Given the description of an element on the screen output the (x, y) to click on. 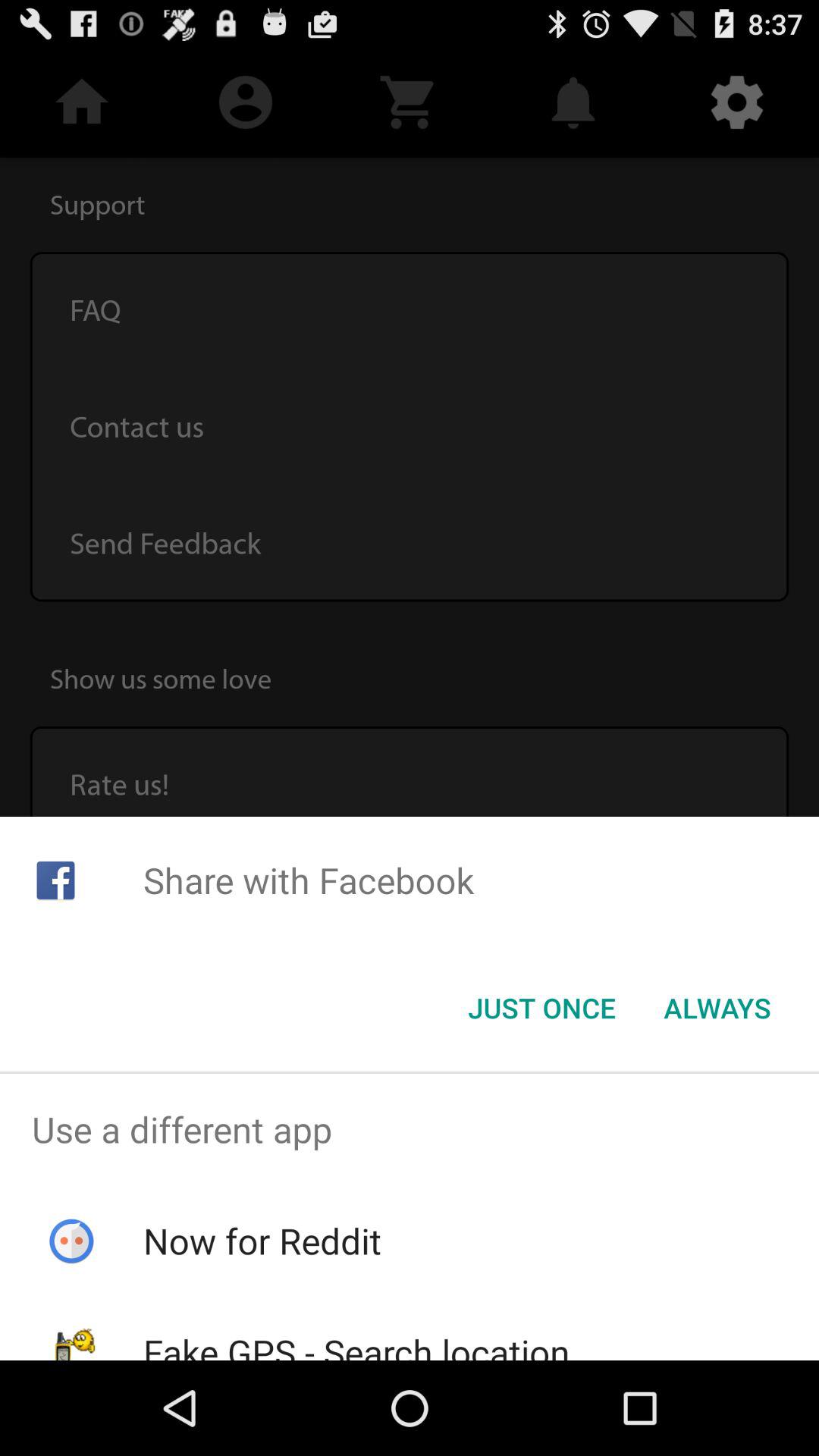
tap fake gps search item (356, 1344)
